Given the description of an element on the screen output the (x, y) to click on. 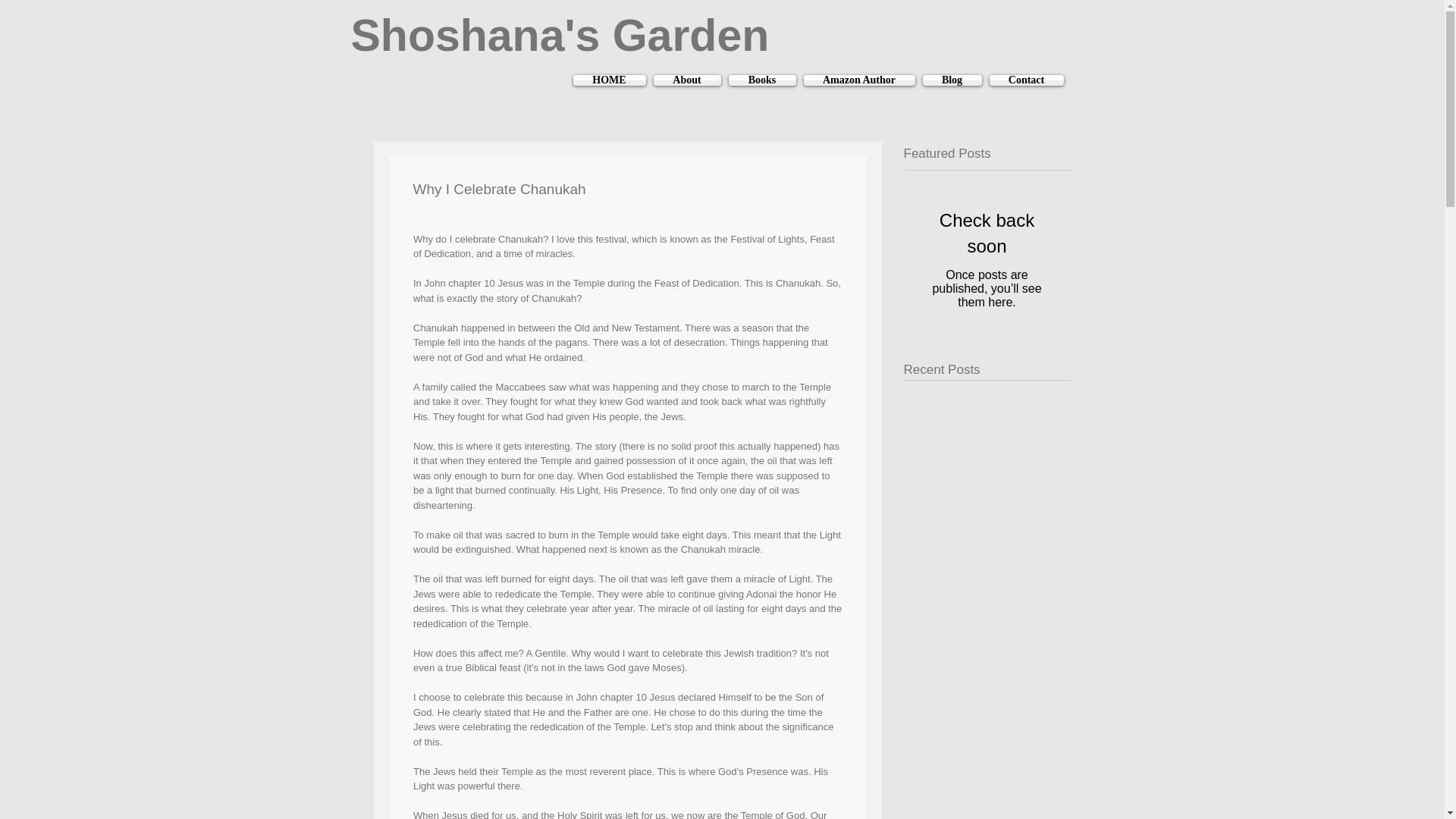
Contact (1024, 80)
Books (762, 80)
Shoshana's Garden (559, 35)
HOME (611, 80)
Blog (951, 80)
About (686, 80)
Amazon Author (858, 80)
